Given the description of an element on the screen output the (x, y) to click on. 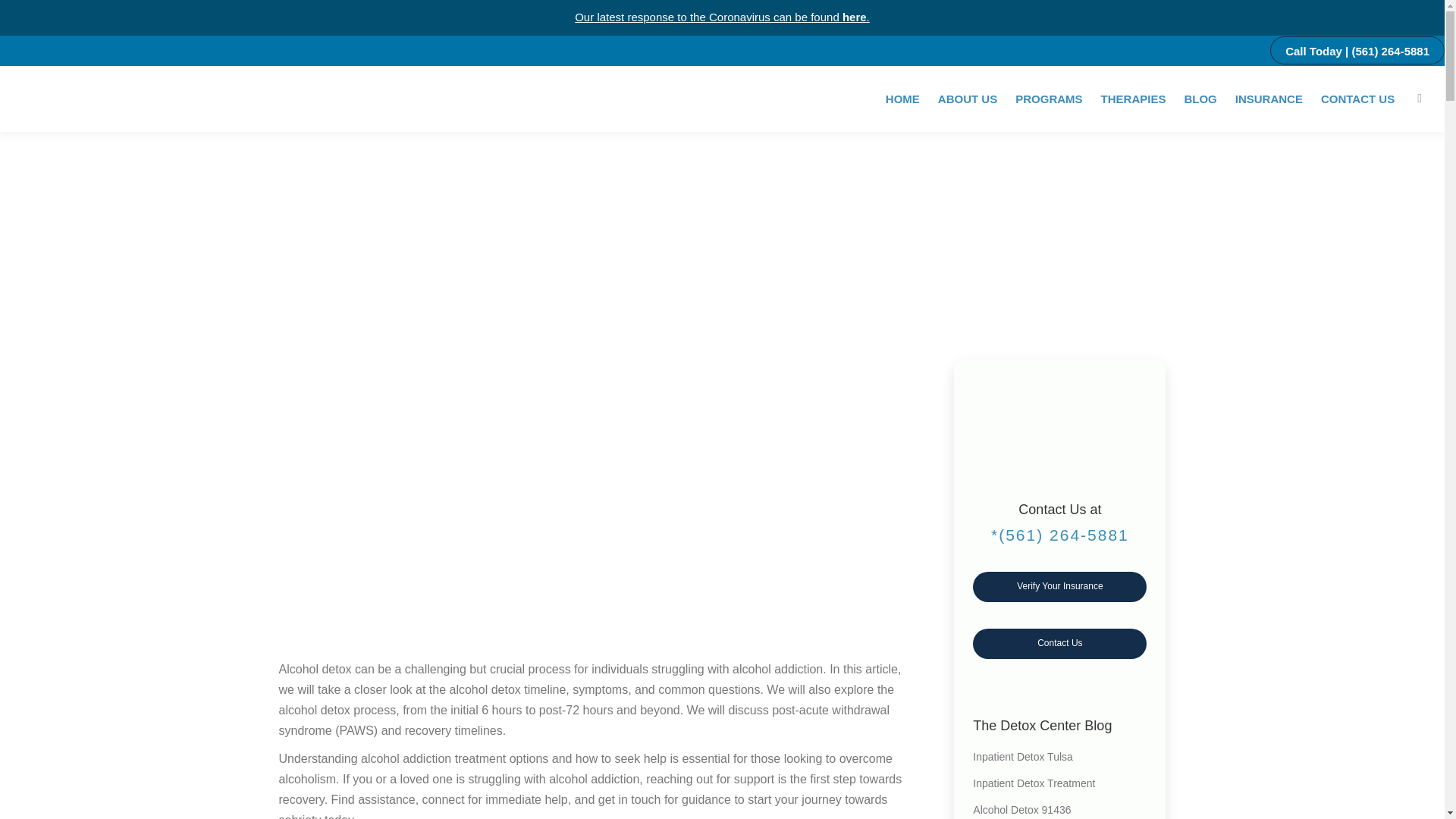
ABOUT US (967, 97)
HOME (902, 97)
PROGRAMS (1047, 97)
Go! (24, 15)
INSURANCE (1268, 97)
Insurance Verification (1059, 586)
CONTACT US (1357, 97)
THERAPIES (1133, 97)
Contact Us (1059, 643)
